Given the description of an element on the screen output the (x, y) to click on. 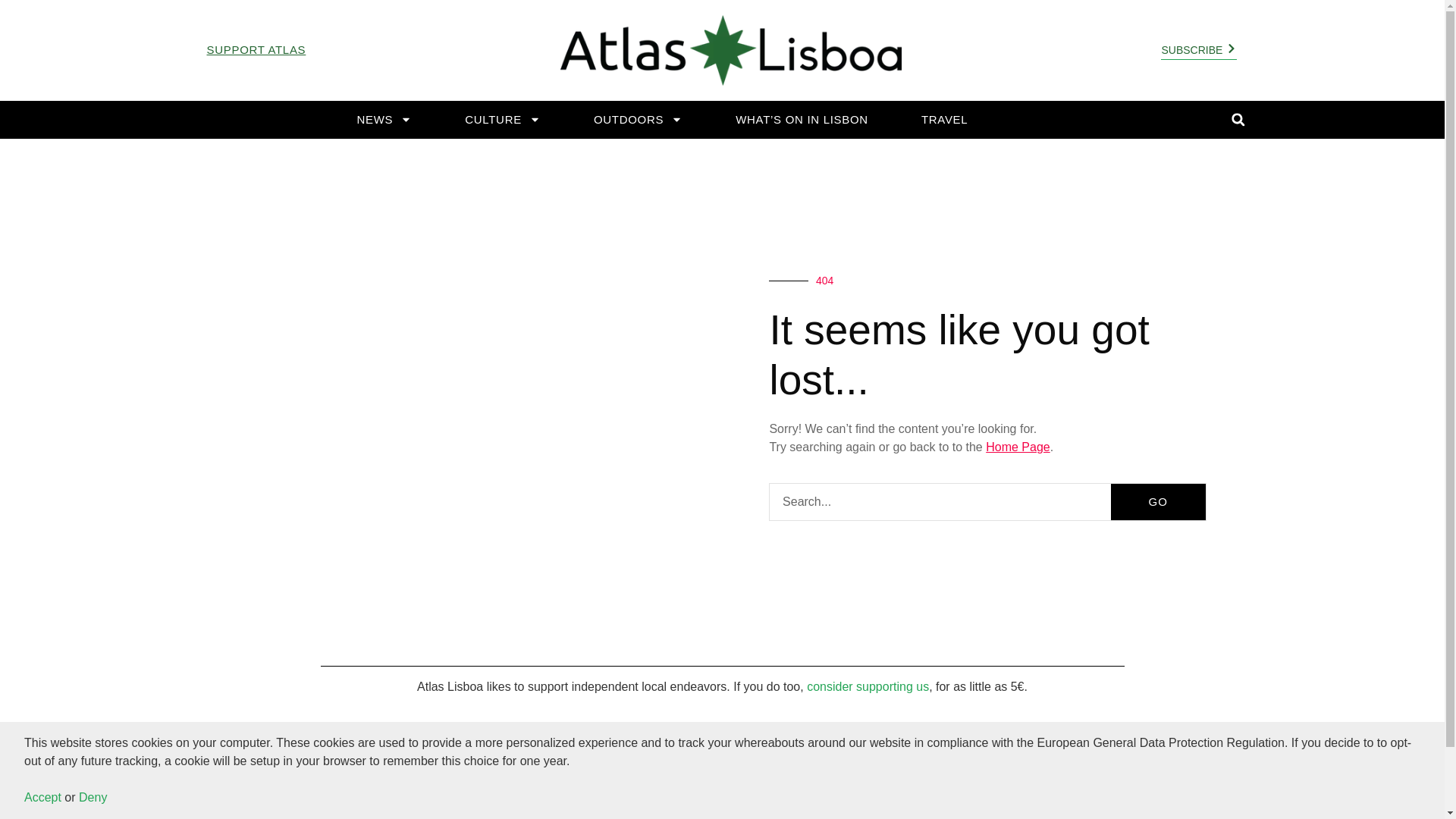
SUBSCRIBE (1198, 50)
TRAVEL (944, 119)
CULTURE (502, 119)
Contact (1189, 759)
SUPPORT ATLAS (255, 49)
Partners and Press (1305, 794)
About Atlas Lisboa (1269, 759)
SUBSCRIBE (382, 794)
consider supporting us (867, 686)
OUTDOORS (637, 119)
